Given the description of an element on the screen output the (x, y) to click on. 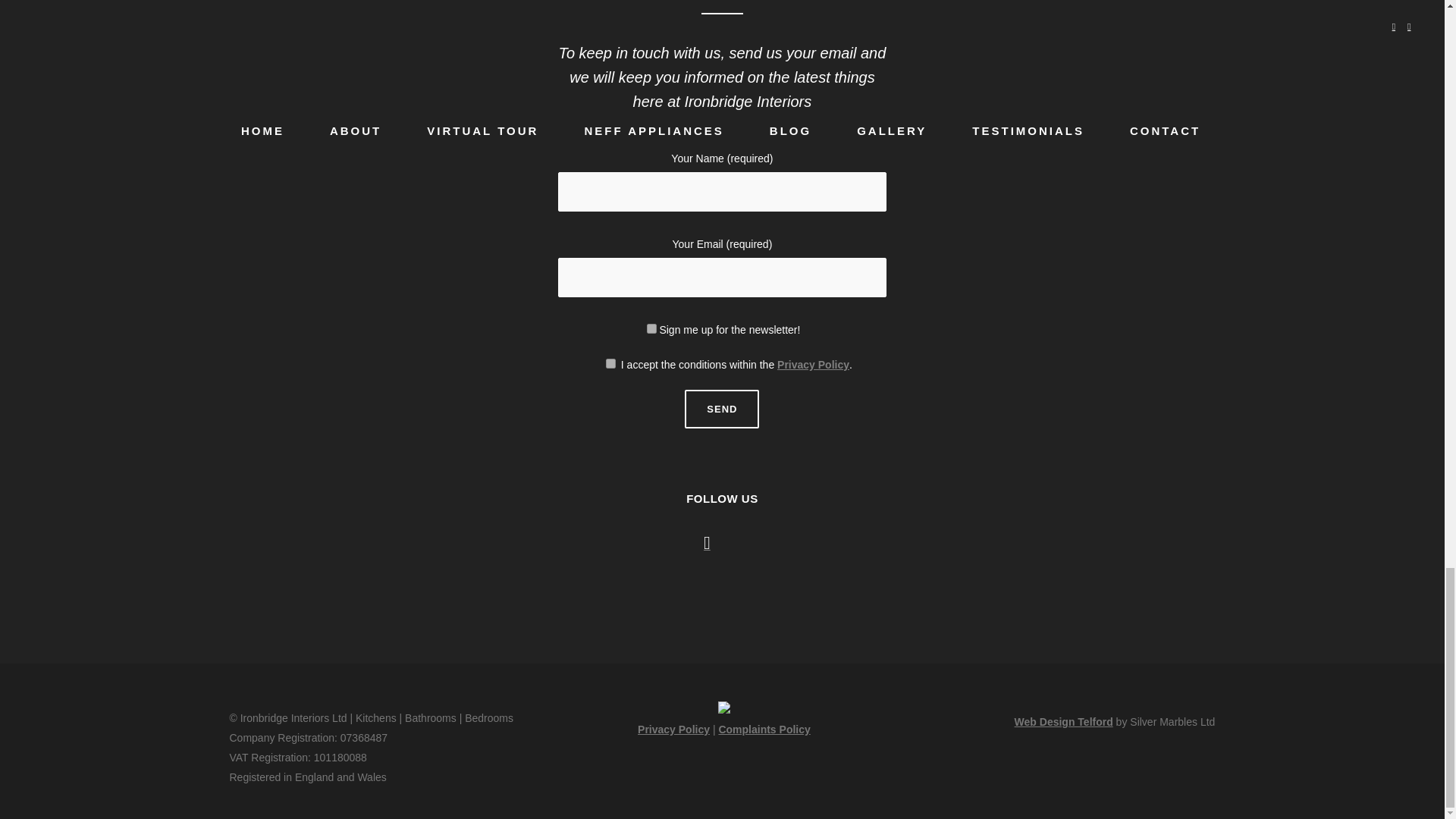
1 (651, 328)
1 (610, 363)
Send (721, 408)
